Given the description of an element on the screen output the (x, y) to click on. 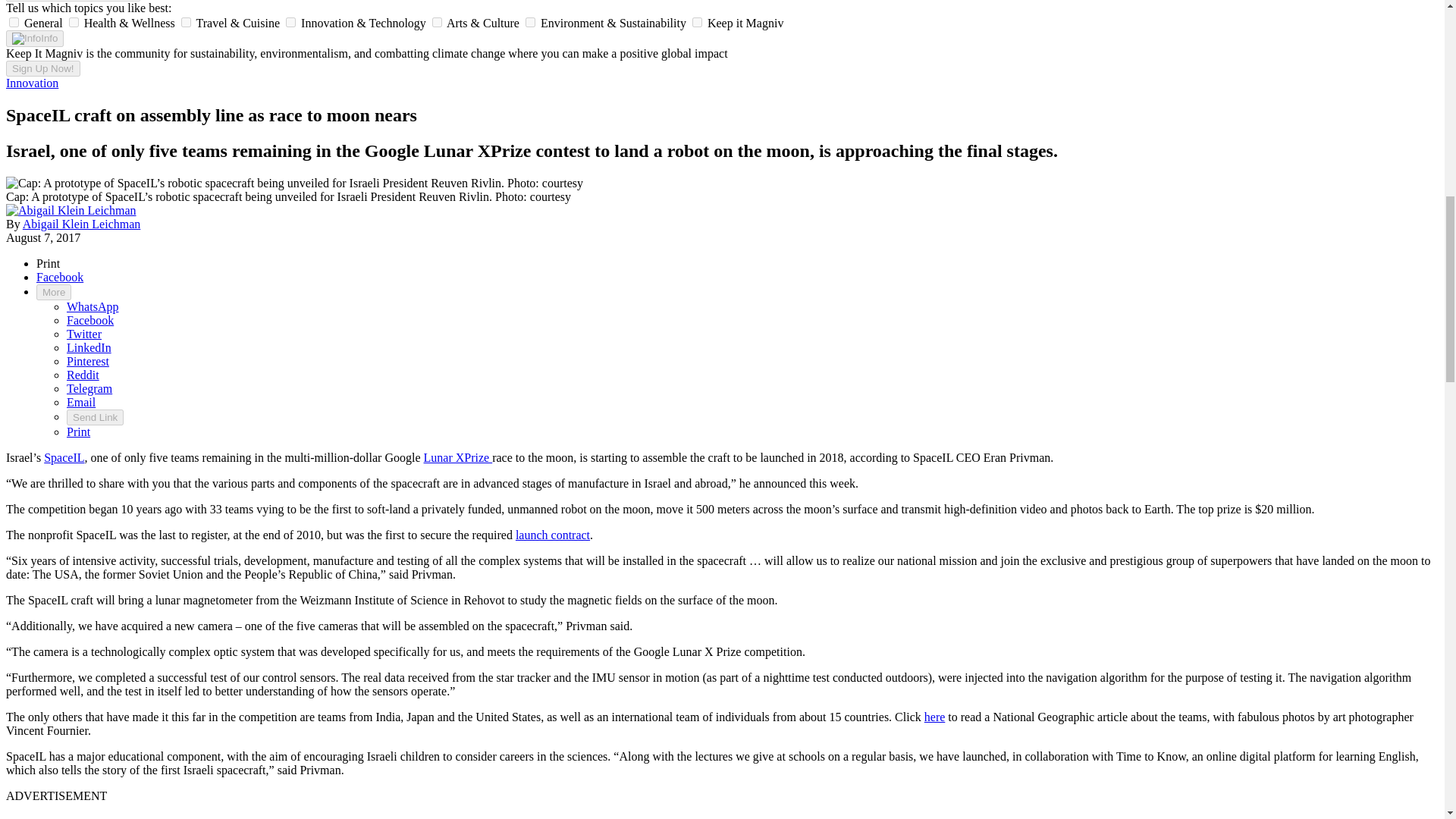
Info (34, 38)
3 (290, 22)
1 (73, 22)
6 (697, 22)
0 (13, 22)
2 (185, 22)
Abigail Klein Leichman (70, 210)
Abigail Klein Leichman (70, 210)
5 (530, 22)
4 (437, 22)
Abigail Klein Leichman (82, 223)
